Given the description of an element on the screen output the (x, y) to click on. 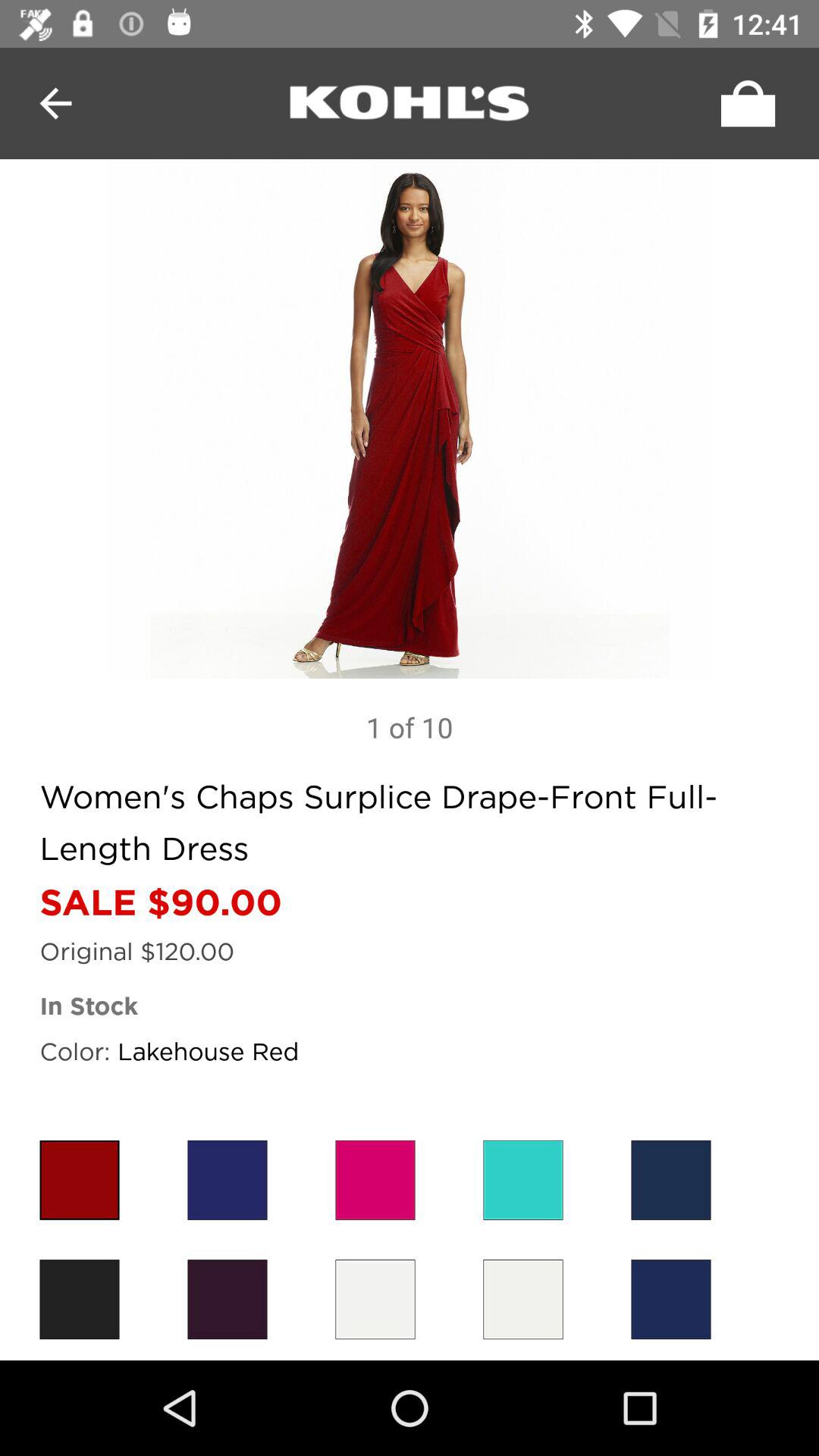
select brown version of dress (227, 1299)
